Given the description of an element on the screen output the (x, y) to click on. 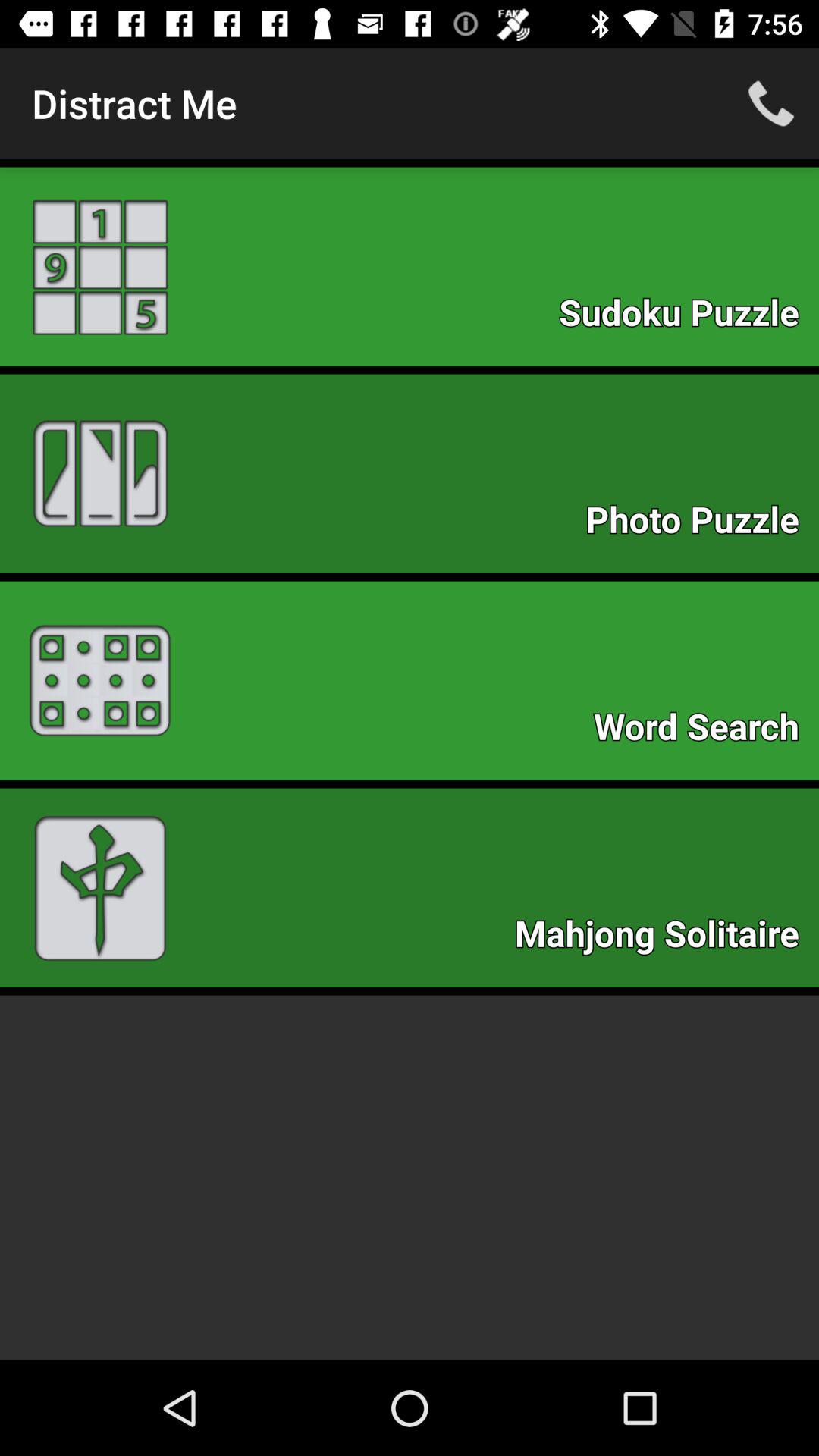
swipe to word search icon (704, 730)
